Given the description of an element on the screen output the (x, y) to click on. 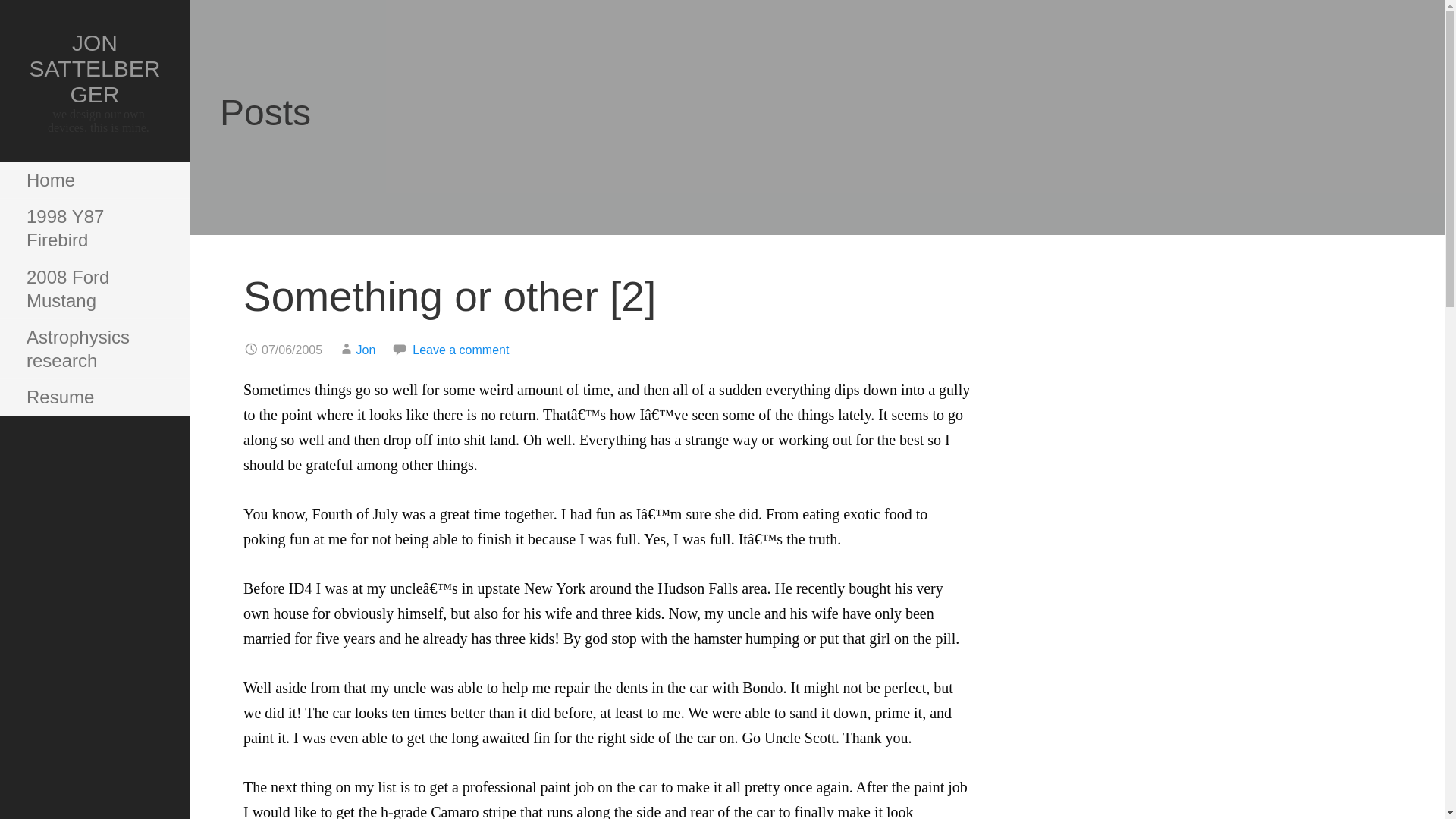
Astrophysics research (94, 349)
Leave a comment (460, 349)
JON SATTELBERGER (94, 68)
Resume (94, 397)
2008 Ford Mustang (94, 289)
Posts by Jon (365, 349)
Home (94, 180)
1998 Y87 Firebird (94, 228)
Jon (365, 349)
